Given the description of an element on the screen output the (x, y) to click on. 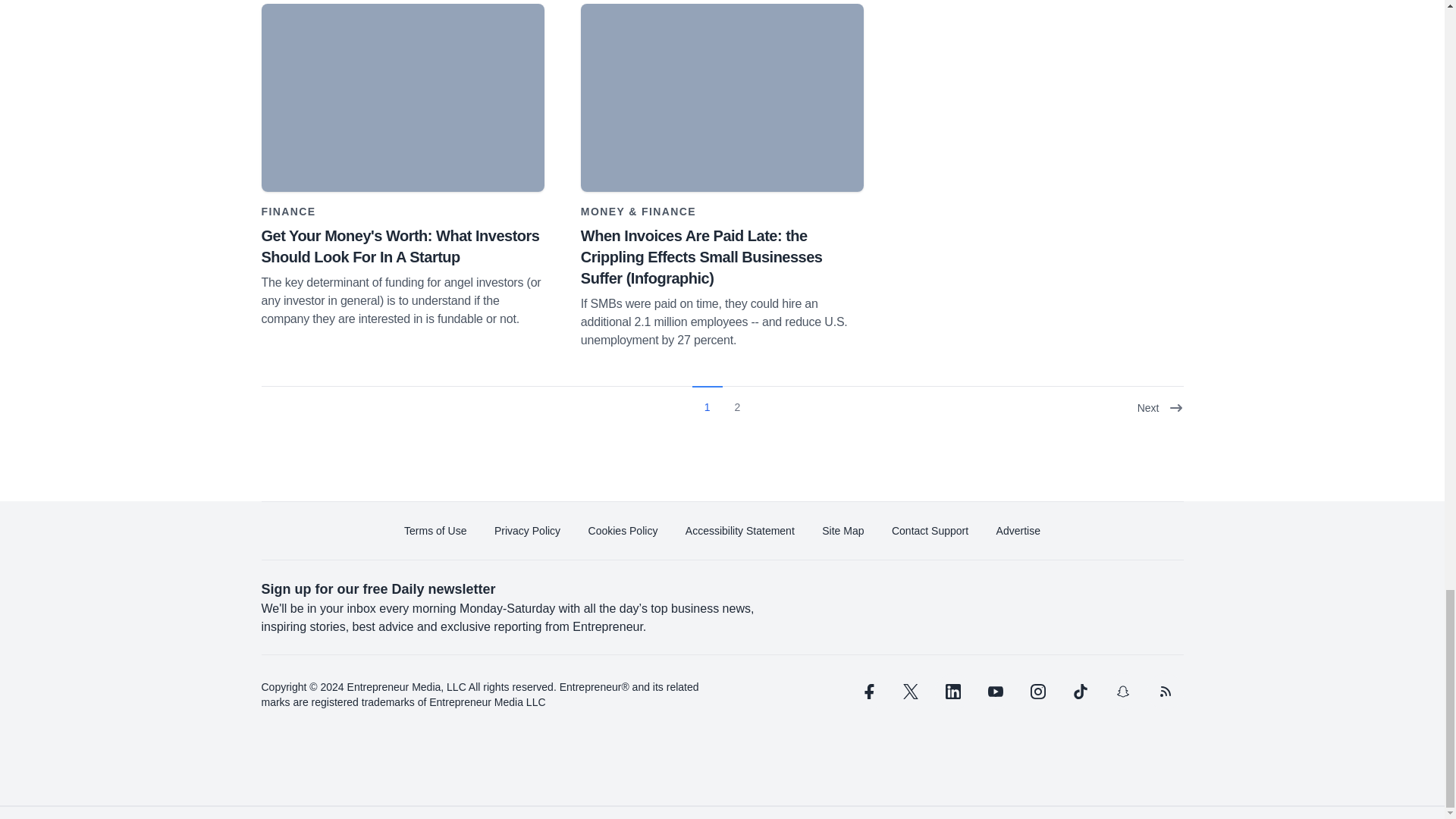
tiktok (1079, 691)
instagram (1037, 691)
rss (1164, 691)
snapchat (1121, 691)
twitter (909, 691)
linkedin (952, 691)
youtube (994, 691)
facebook (866, 691)
